Given the description of an element on the screen output the (x, y) to click on. 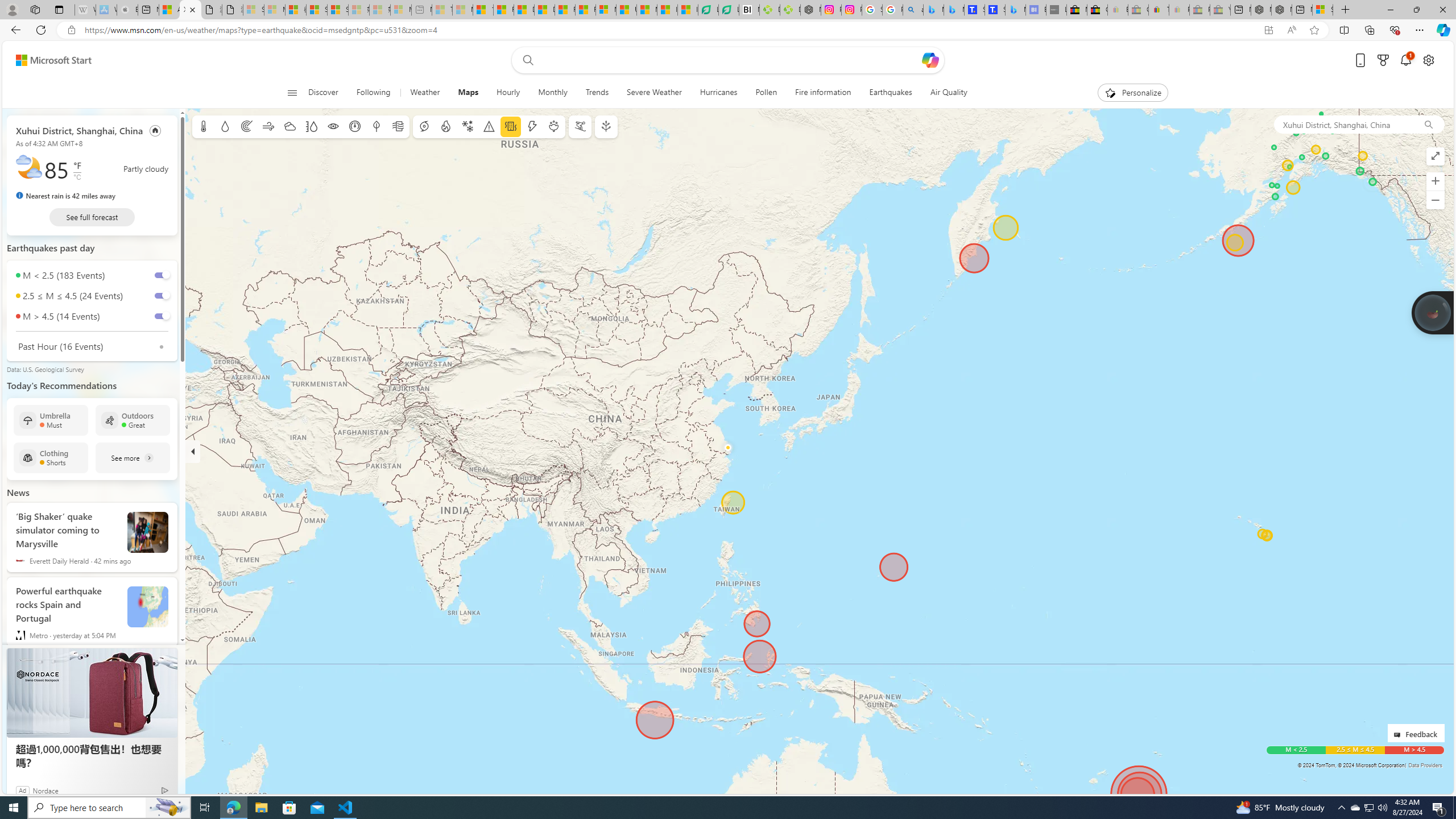
Umbrella Must (50, 419)
Trends (596, 92)
Ski conditions (579, 126)
See full forecast (92, 217)
Powerful earthquake rocks Spain and Portugal (67, 602)
Clouds (289, 126)
Xuhui District, Shanghai, China (1342, 124)
